Given the description of an element on the screen output the (x, y) to click on. 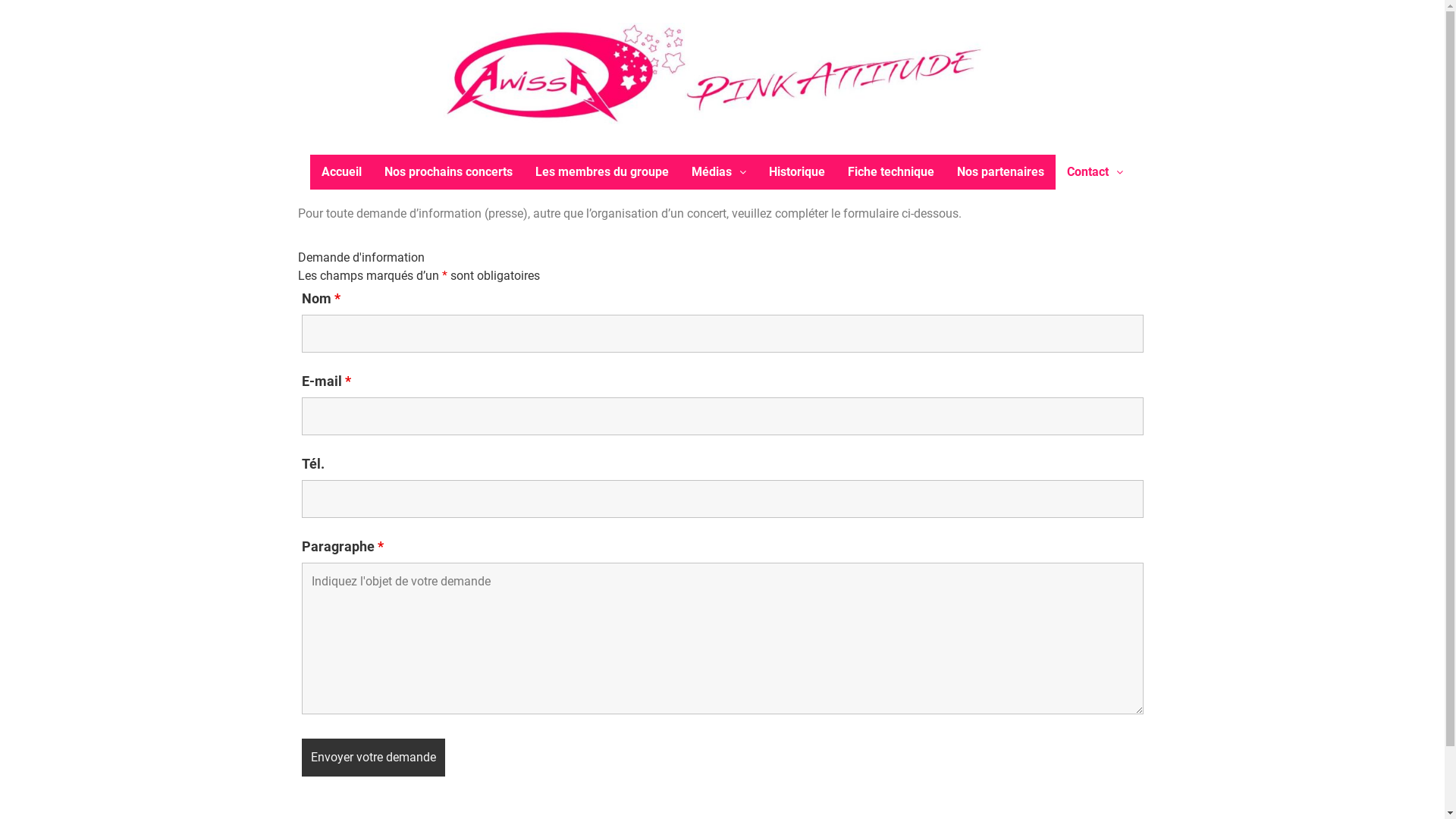
Contact Element type: text (1094, 171)
Nos partenaires Element type: text (1000, 171)
Les membres du groupe Element type: text (602, 171)
Envoyer votre demande Element type: text (373, 757)
Historique Element type: text (796, 171)
Nos prochains concerts Element type: text (448, 171)
Fiche technique Element type: text (890, 171)
Accueil Element type: text (341, 171)
